Given the description of an element on the screen output the (x, y) to click on. 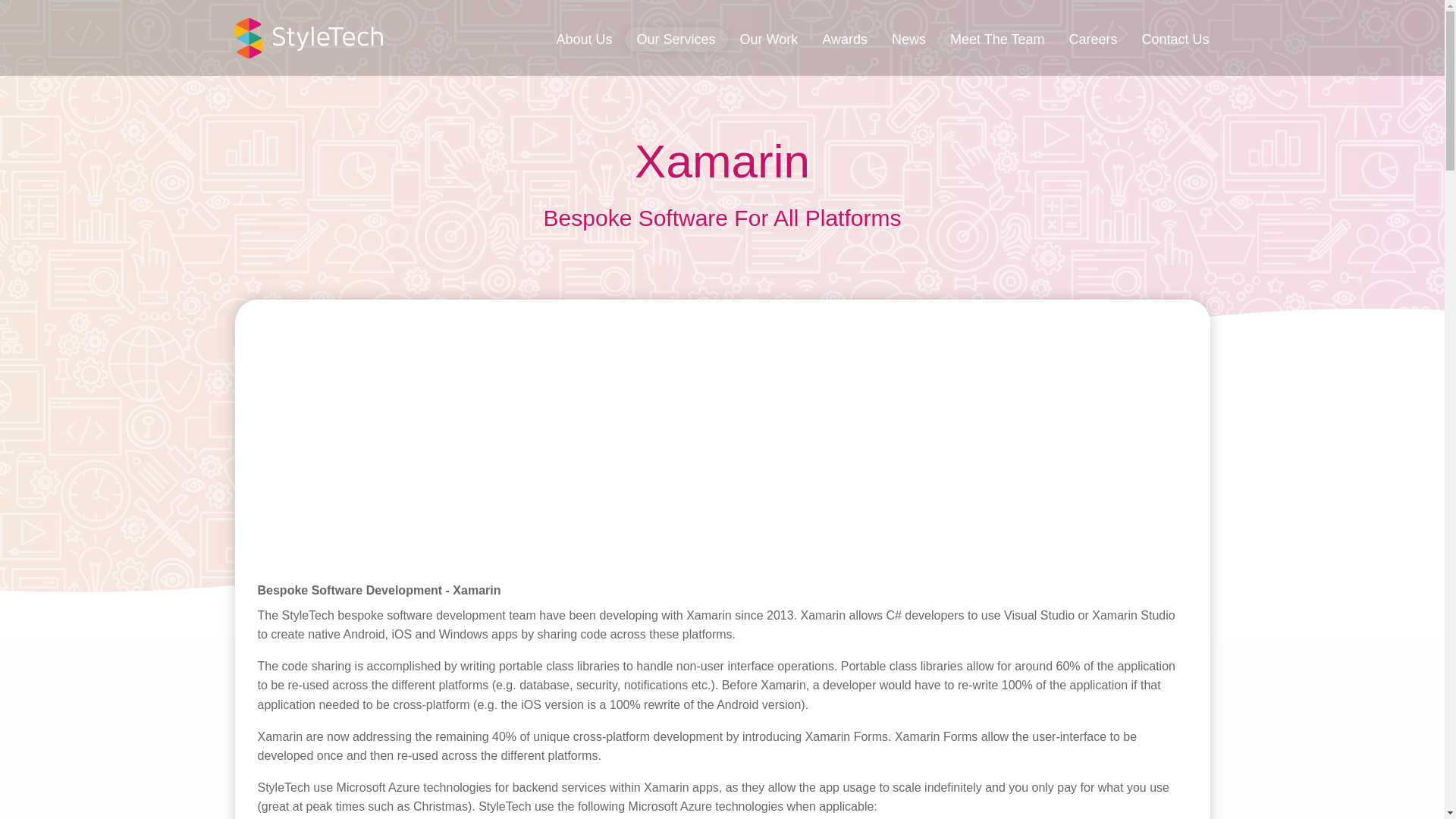
Our Services (676, 39)
Awards (844, 39)
Contact Us (1175, 39)
Meet The Team (997, 39)
News (908, 39)
About Us (584, 39)
Our Work (769, 39)
Careers (1093, 39)
